Given the description of an element on the screen output the (x, y) to click on. 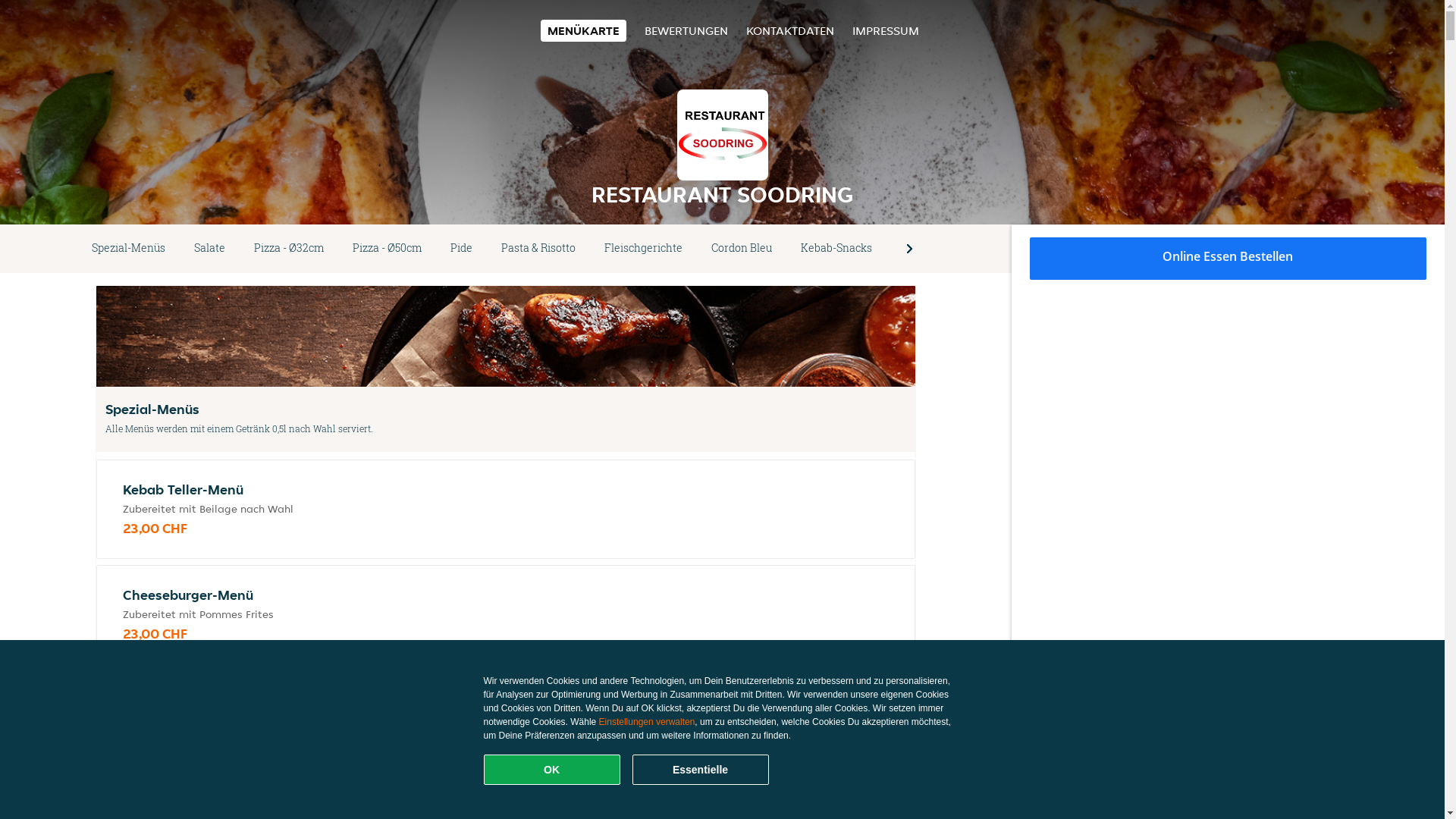
Kebab-Snacks Element type: text (836, 248)
Essentielle Element type: text (700, 769)
IMPRESSUM Element type: text (885, 30)
Salate Element type: text (209, 248)
Einstellungen verwalten Element type: text (647, 721)
KONTAKTDATEN Element type: text (790, 30)
Pasta & Risotto Element type: text (537, 248)
Pide Element type: text (461, 248)
OK Element type: text (551, 769)
BEWERTUNGEN Element type: text (686, 30)
Cordon Bleu Element type: text (741, 248)
Online Essen Bestellen Element type: text (1228, 258)
Fleischgerichte Element type: text (642, 248)
